Given the description of an element on the screen output the (x, y) to click on. 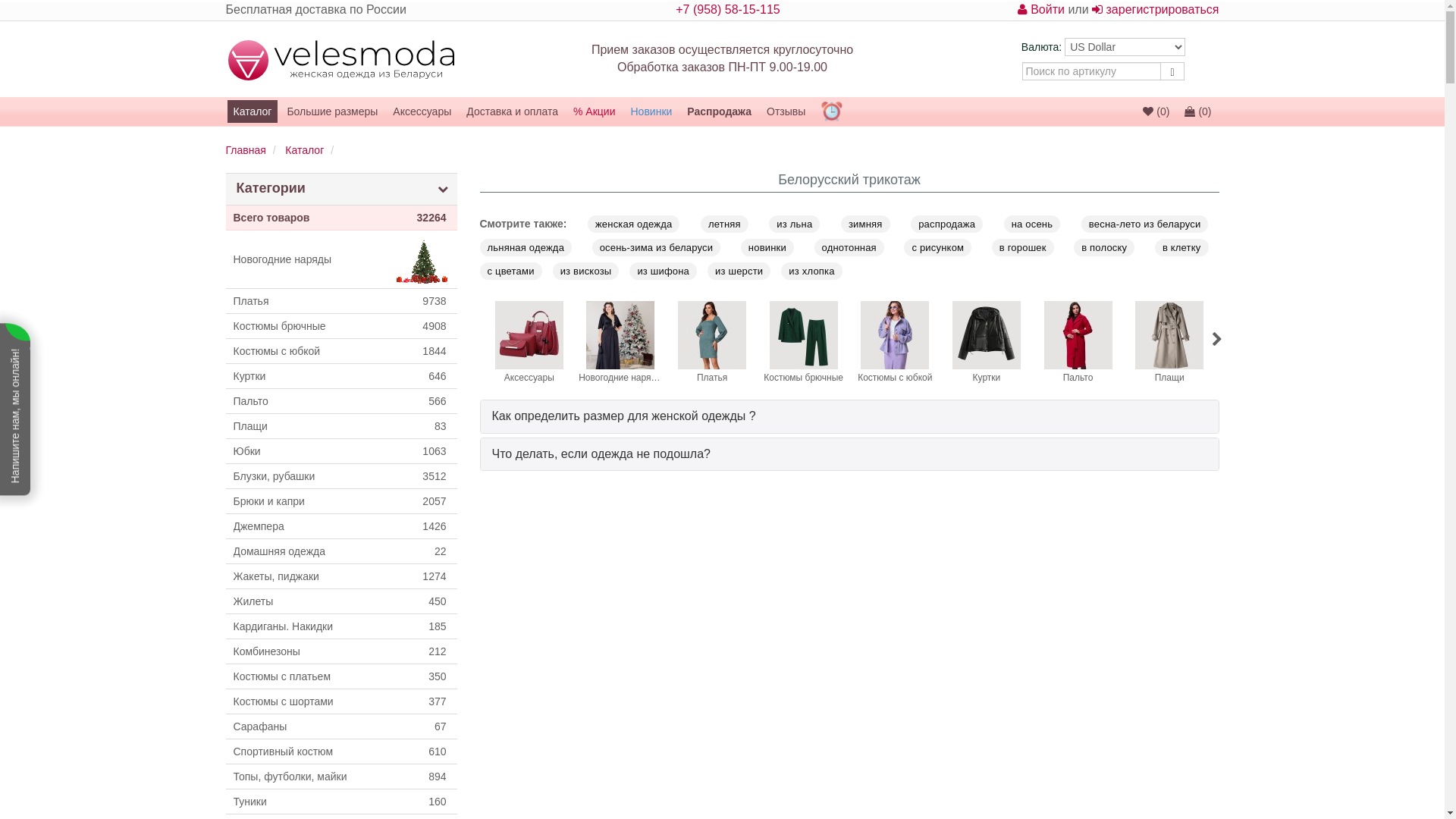
(0) Element type: text (1197, 111)
+7 (958) 58-15-115 Element type: text (727, 9)
(0) Element type: text (1155, 111)
